Given the description of an element on the screen output the (x, y) to click on. 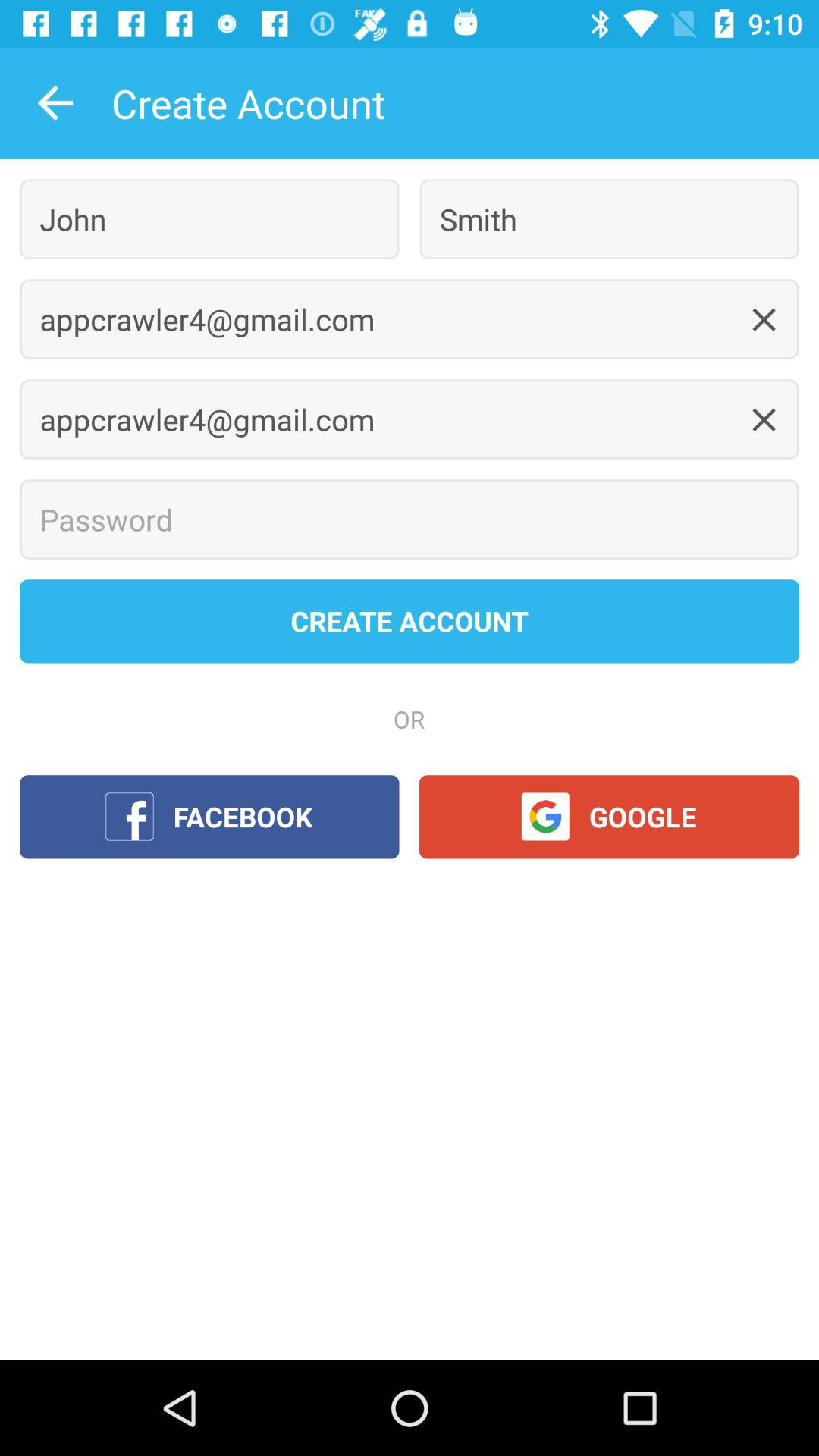
launch icon above appcrawler4@gmail.com (609, 219)
